Given the description of an element on the screen output the (x, y) to click on. 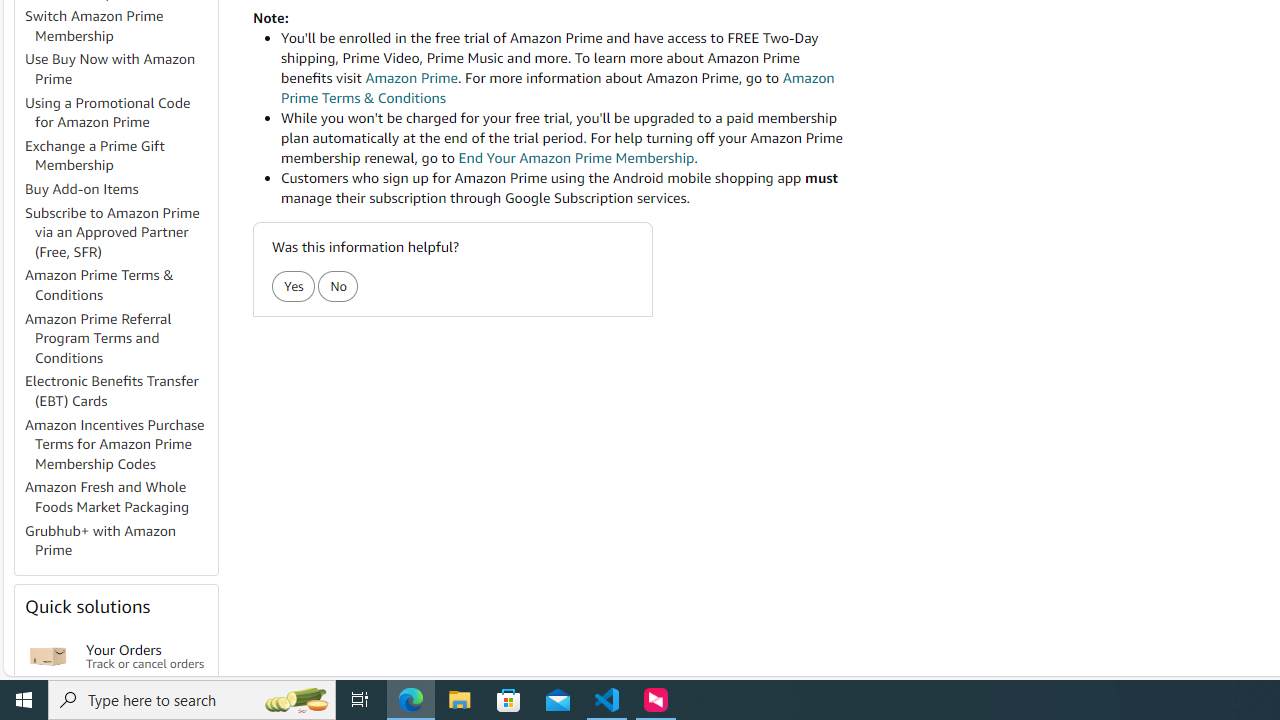
Your Orders (48, 655)
End Your Amazon Prime Membership (576, 158)
Amazon Prime (411, 78)
Use Buy Now with Amazon Prime (120, 69)
